Given the description of an element on the screen output the (x, y) to click on. 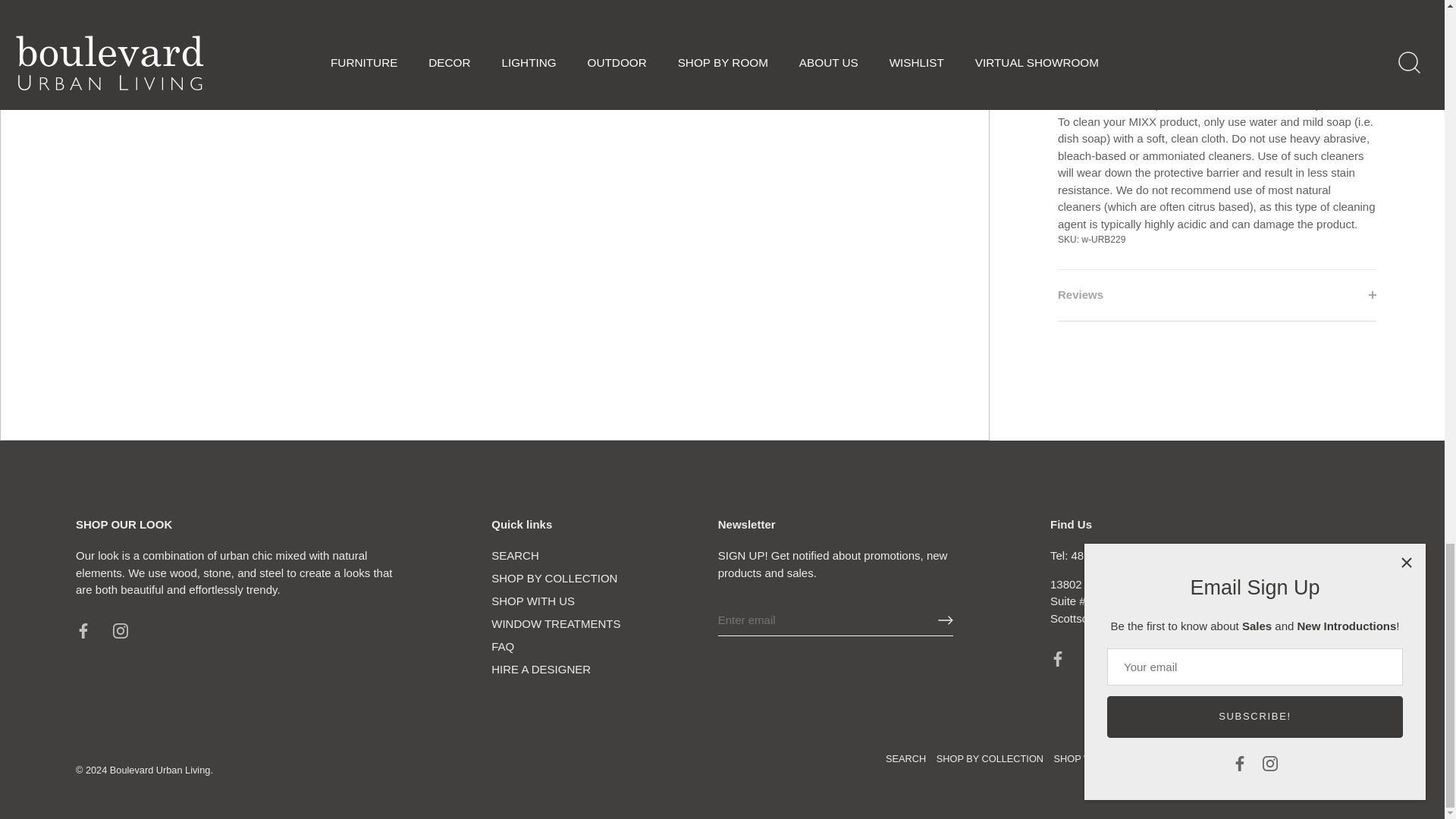
Instagram (1094, 658)
Instagram (120, 630)
RIGHT ARROW LONG (945, 620)
